Given the description of an element on the screen output the (x, y) to click on. 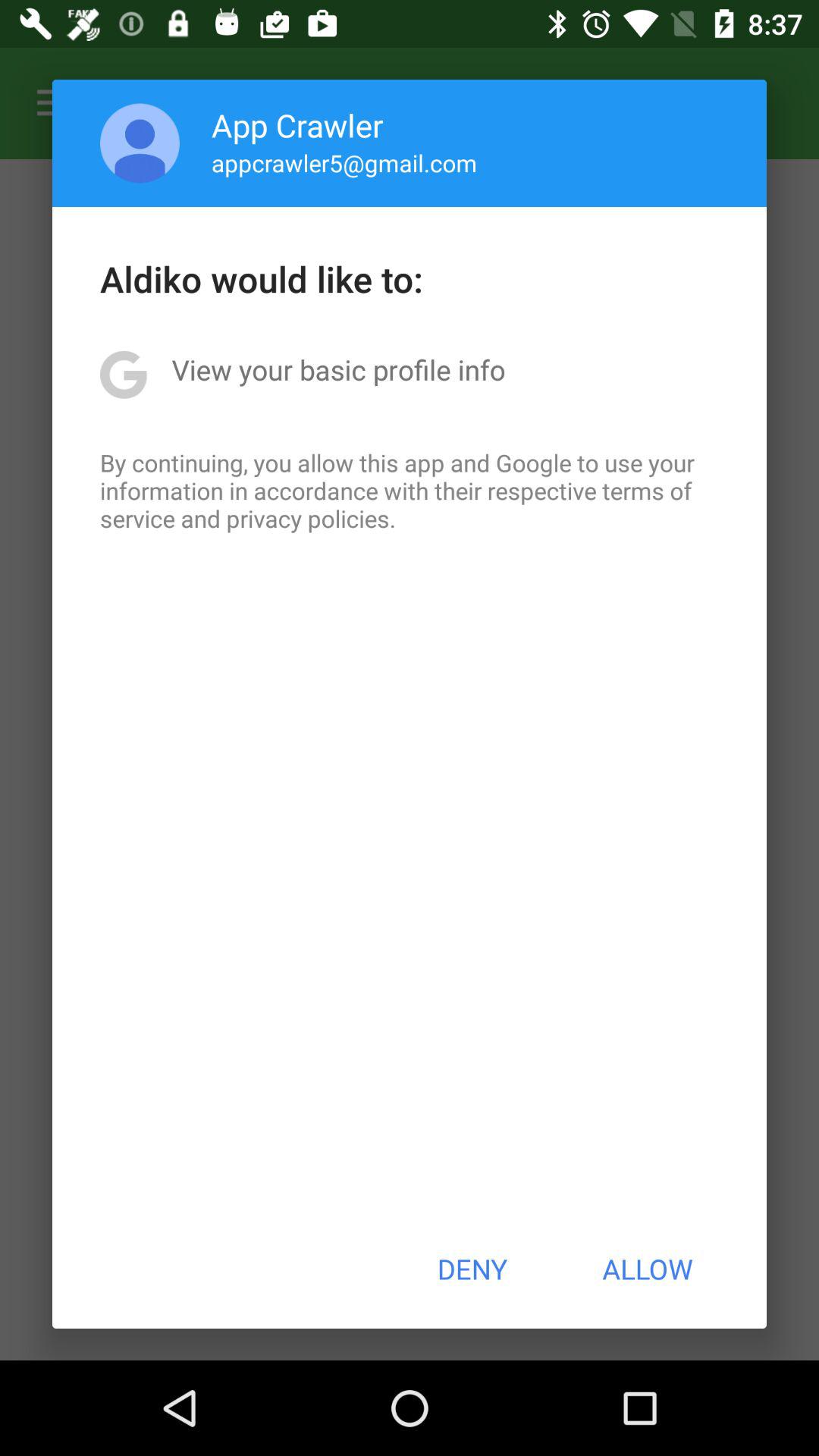
launch icon above aldiko would like icon (139, 143)
